Given the description of an element on the screen output the (x, y) to click on. 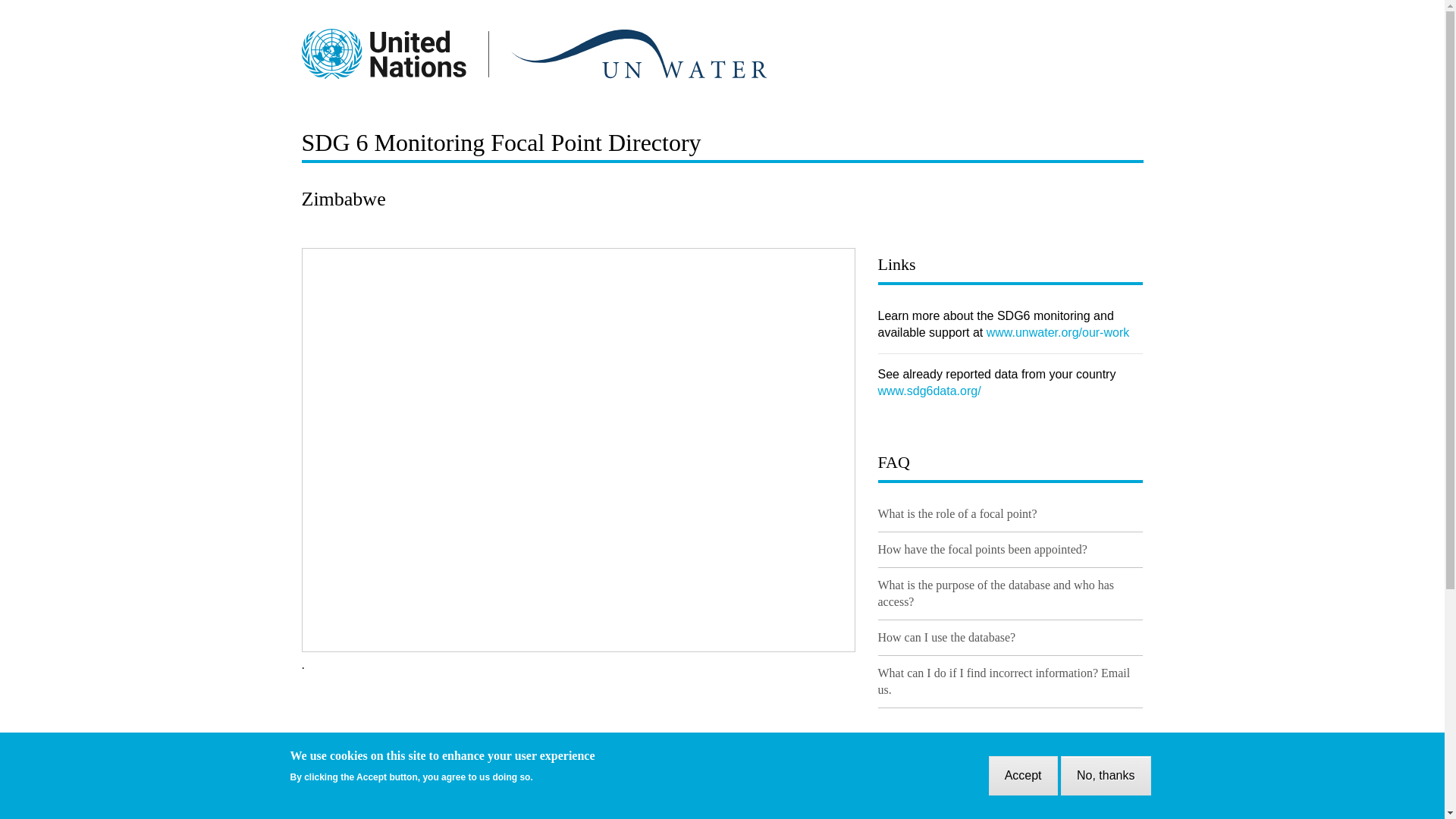
How have the focal points been appointed? (982, 549)
Home (534, 53)
What is the purpose of the database and who has access? (995, 593)
SDG 6 Monitoring Focal Point Directory (501, 142)
www.sdg6data.org (929, 390)
How can I use the database? (946, 636)
Skip to main content (721, 1)
Accept (1023, 775)
No, thanks (1105, 775)
What is the role of a focal point? (956, 513)
